Given the description of an element on the screen output the (x, y) to click on. 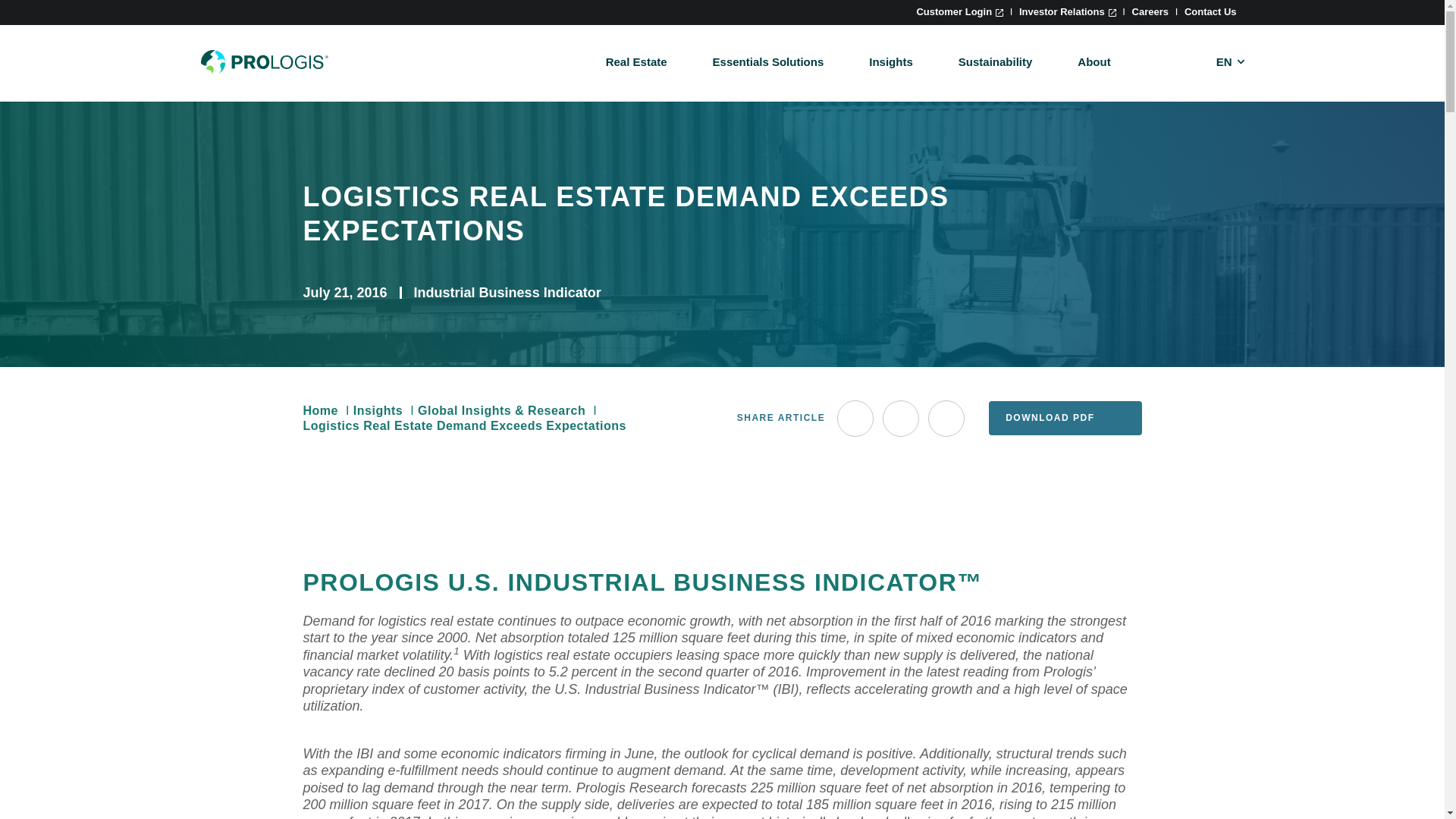
Customer Login (959, 11)
Investor Relations (1067, 11)
About (1093, 61)
Search (905, 189)
Home (263, 62)
Contact Us (1210, 11)
Real Estate (635, 61)
Essentials Solutions (768, 61)
Insights (890, 61)
Contact Us (1210, 11)
Sustainability (995, 61)
Careers (1150, 11)
Login to Prologis Essentials (959, 11)
Investor Relations (1067, 11)
